Given the description of an element on the screen output the (x, y) to click on. 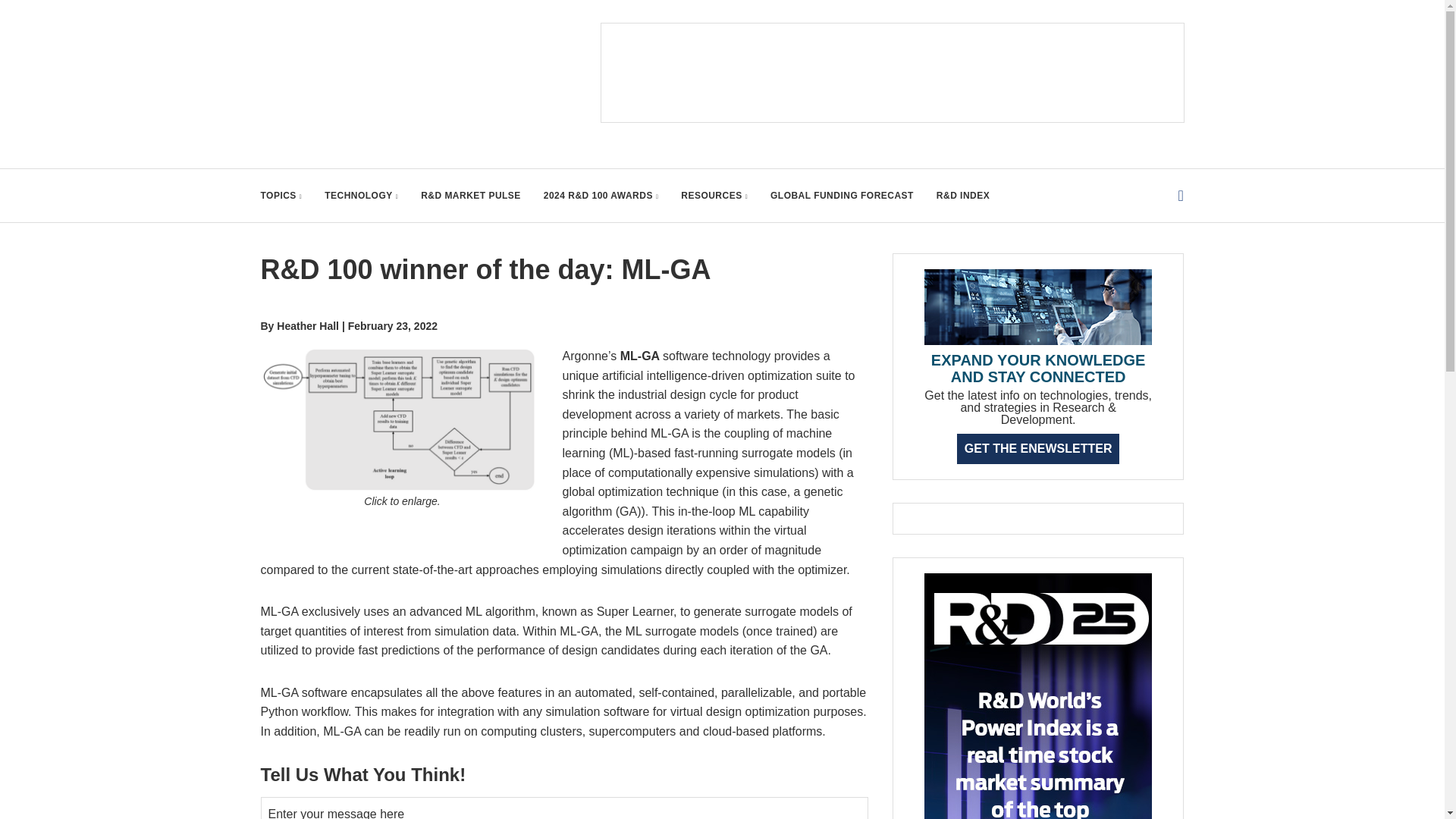
3rd party ad content (891, 72)
TECHNOLOGY (360, 194)
RESOURCES (714, 194)
